Given the description of an element on the screen output the (x, y) to click on. 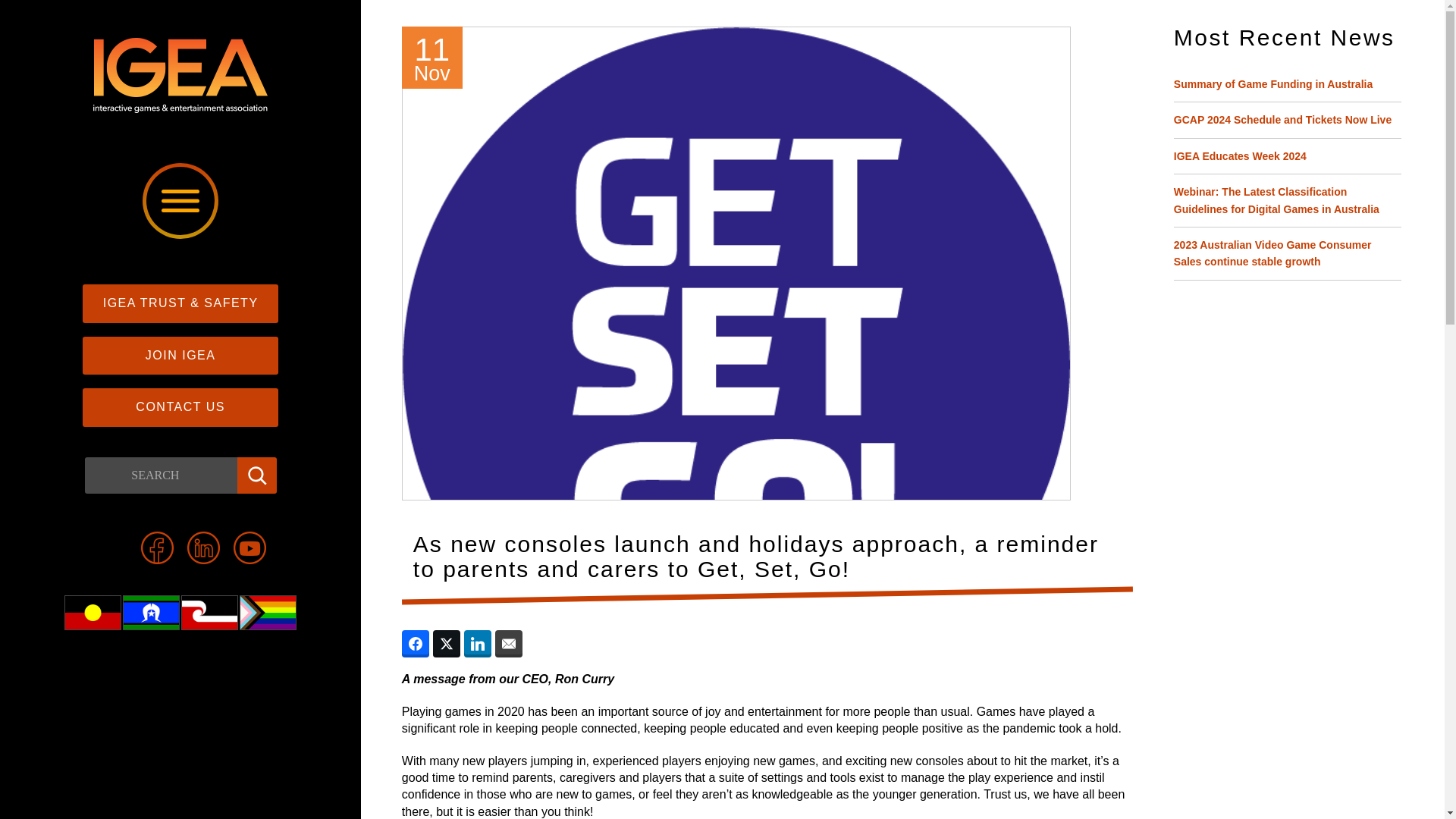
YouTube (249, 547)
LinkedIn (203, 547)
test (92, 612)
Share on LinkedIn (478, 643)
Torres Strait Islander (151, 612)
Contact Us (180, 406)
Share on Twitter (446, 643)
JOIN IGEA (180, 355)
Share on Facebook (415, 643)
Aboriginal (92, 612)
